Given the description of an element on the screen output the (x, y) to click on. 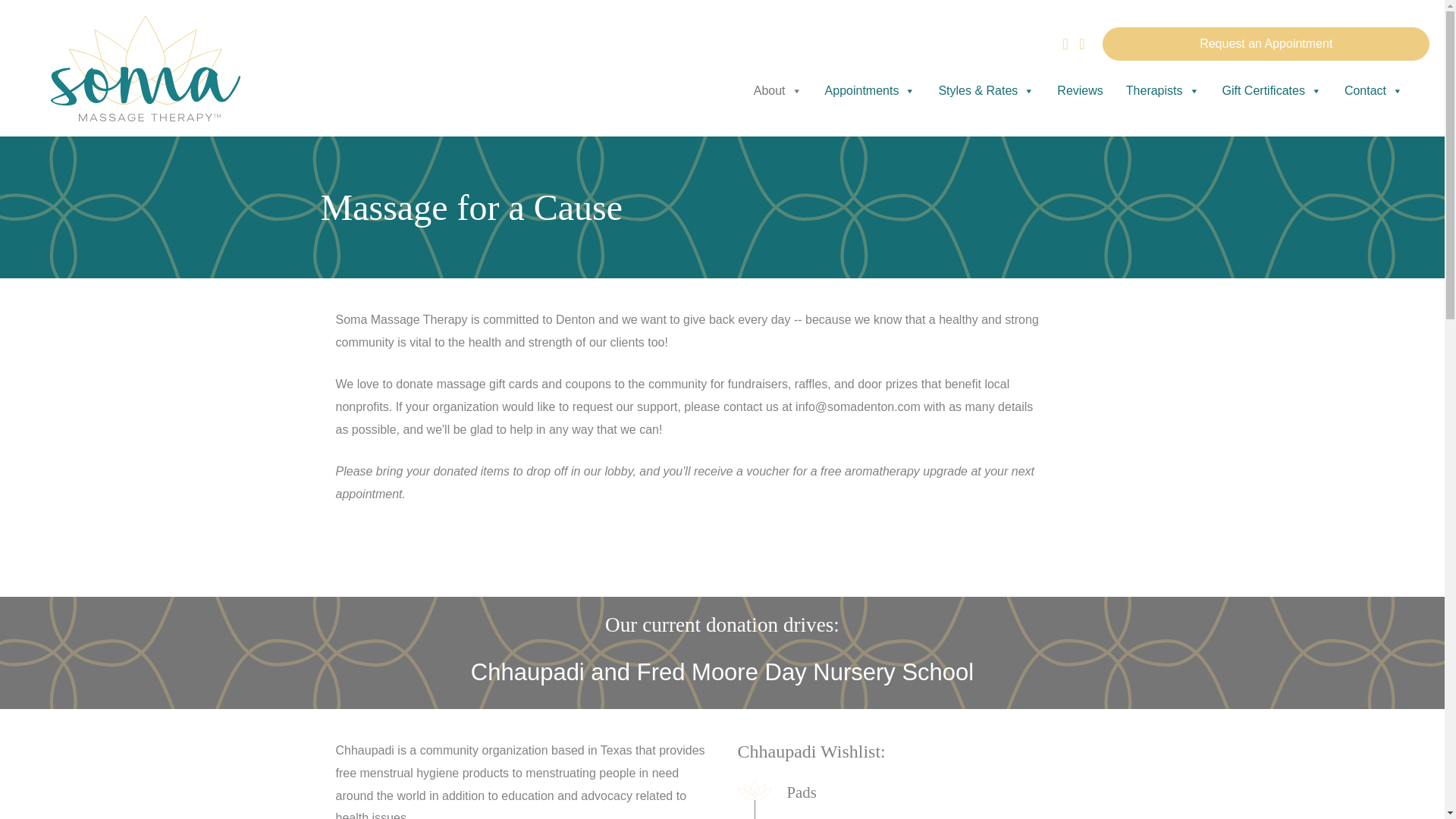
lotus-icon (753, 790)
Soma Massage TM (145, 68)
About (777, 91)
Request an Appointment (1265, 43)
Reviews (1079, 91)
Appointments (870, 91)
Therapists (1163, 91)
